Given the description of an element on the screen output the (x, y) to click on. 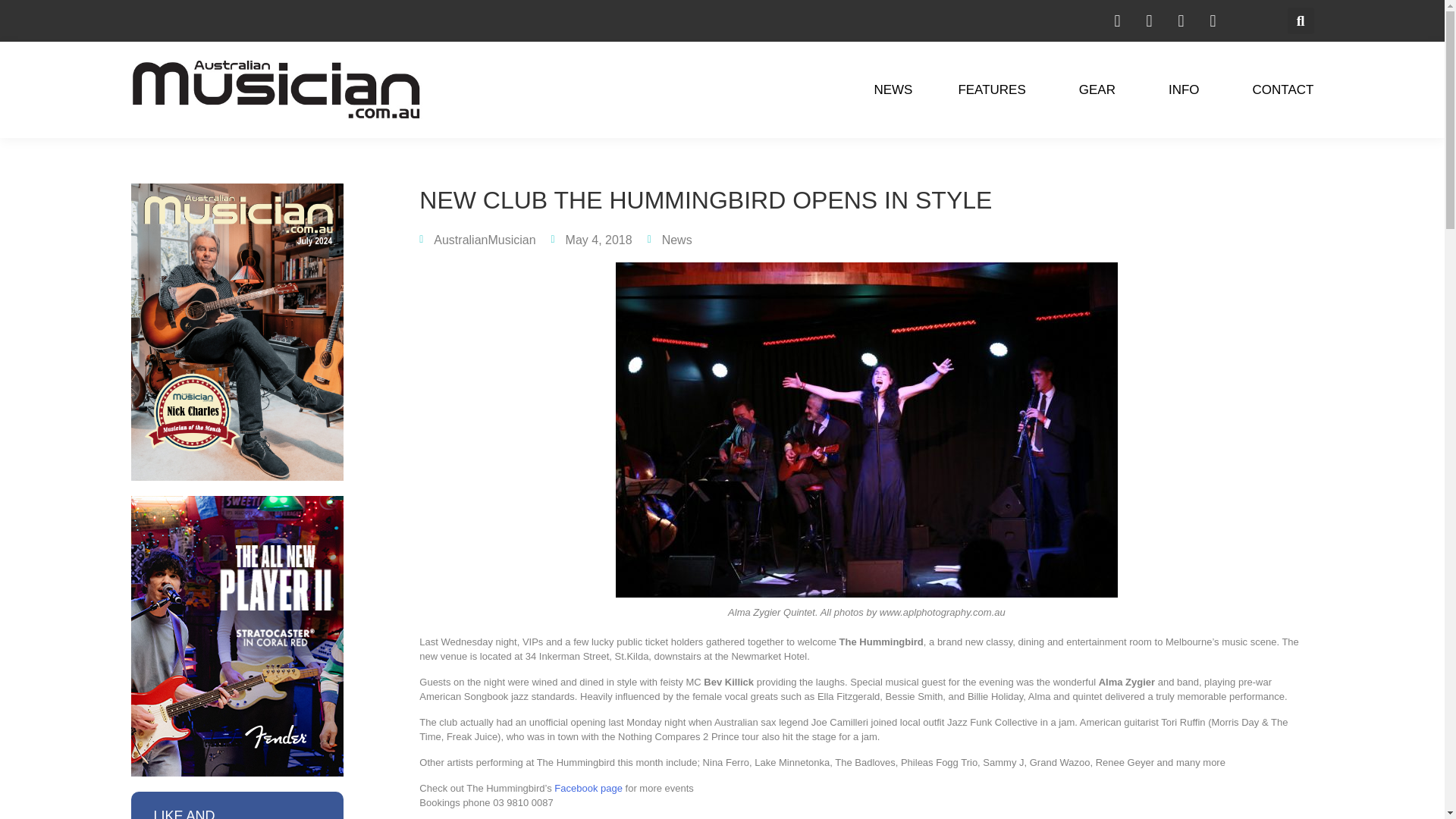
Facebook-f (1148, 20)
Youtube (1212, 20)
NEWS (892, 89)
CONTACT (1283, 89)
Instagram (1116, 20)
FEATURES (995, 89)
Twitter (1180, 20)
GEAR (1100, 89)
INFO (1188, 89)
